Given the description of an element on the screen output the (x, y) to click on. 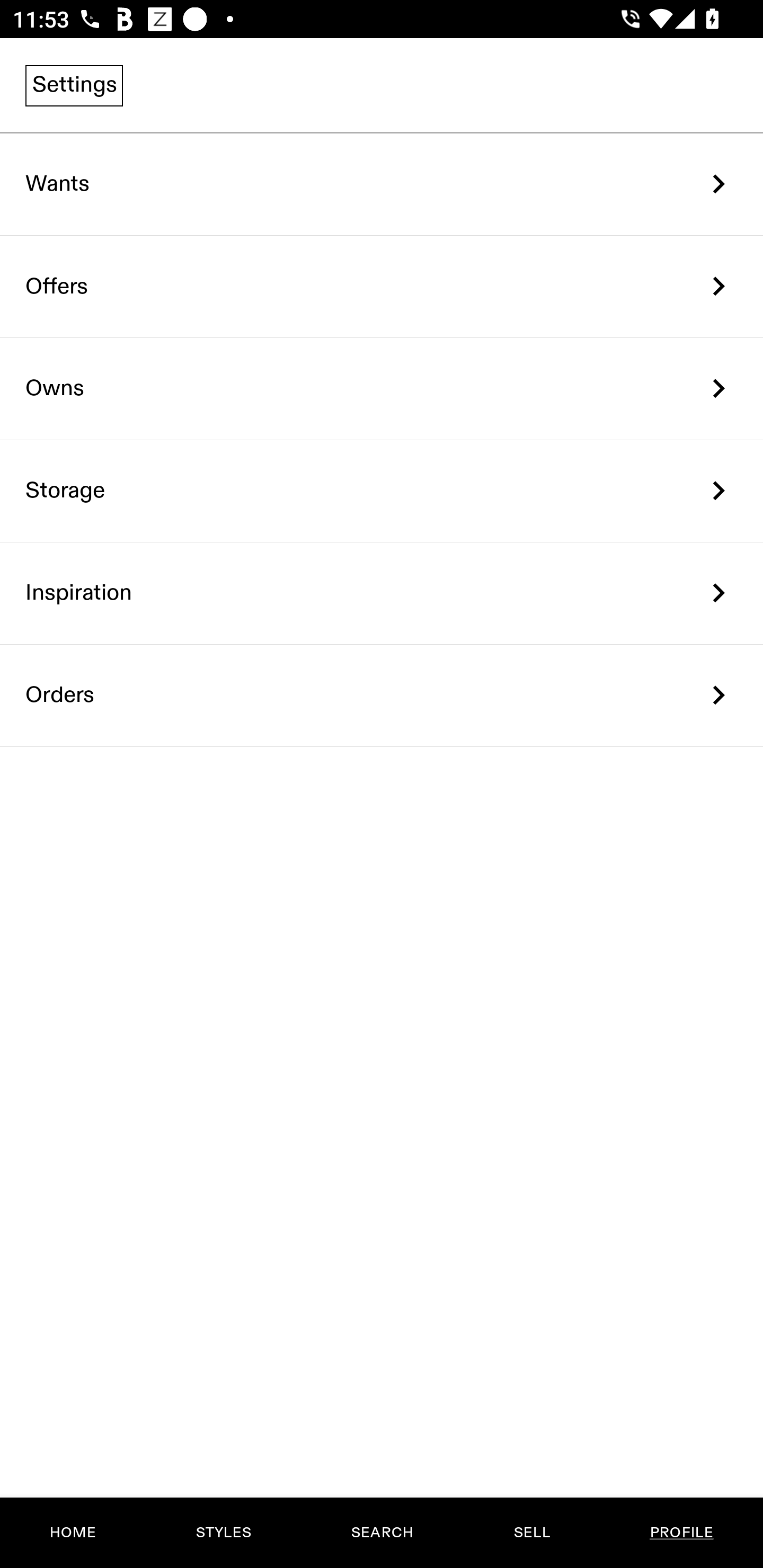
Settings (73, 85)
Wants (381, 184)
Offers (381, 286)
Owns (381, 388)
Storage (381, 491)
Inspiration (381, 593)
Orders (381, 695)
HOME (72, 1532)
STYLES (222, 1532)
SEARCH (381, 1532)
SELL (531, 1532)
PROFILE (681, 1532)
